Given the description of an element on the screen output the (x, y) to click on. 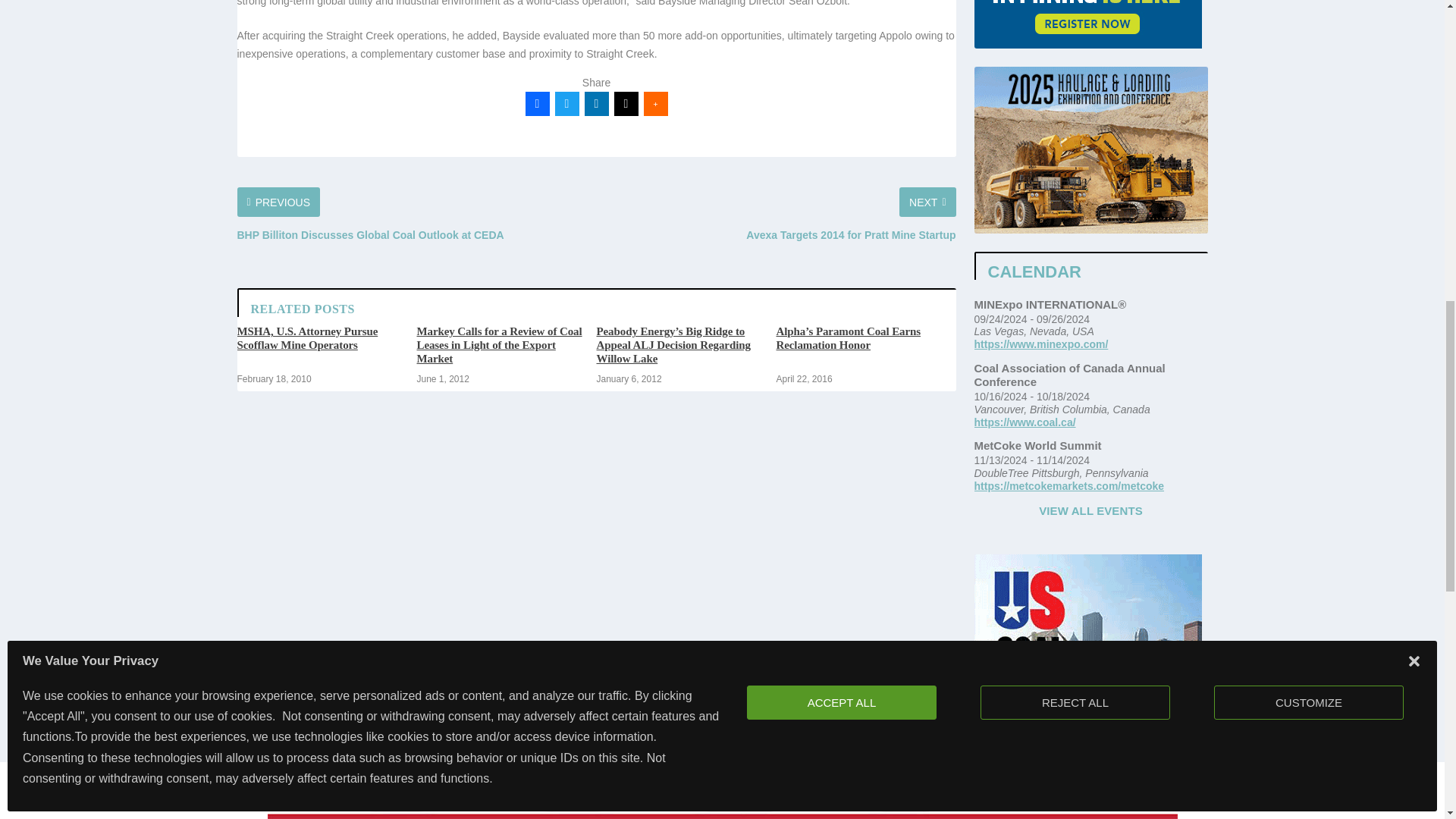
More share links (654, 103)
Add this to LinkedIn (595, 103)
Share this on Facebook (536, 103)
Tweet this ! (566, 103)
Email this  (626, 103)
